Given the description of an element on the screen output the (x, y) to click on. 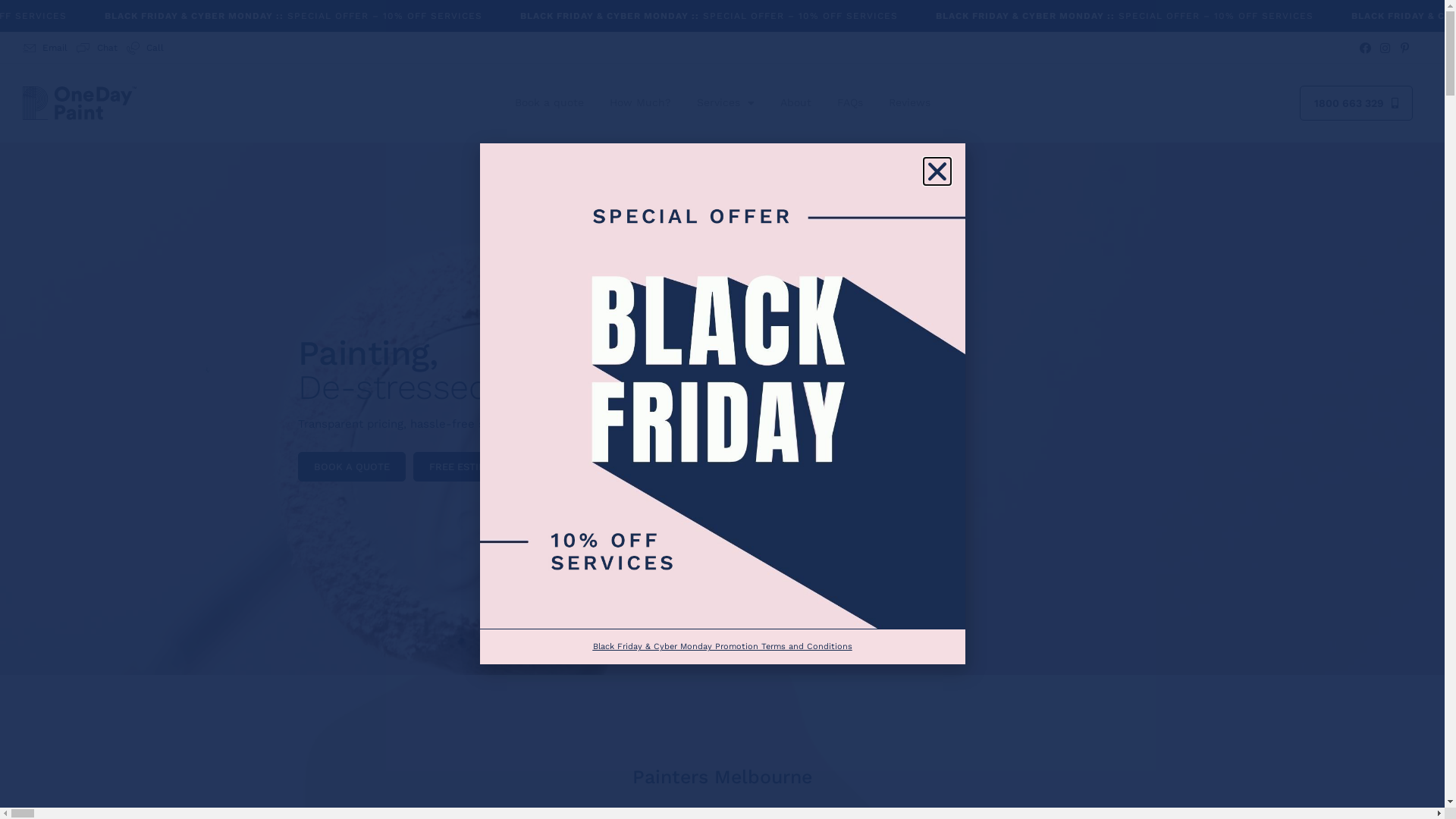
Book a quote Element type: text (549, 102)
Services Element type: text (725, 102)
Chat Element type: text (96, 47)
BOOK A QUOTE Element type: text (350, 466)
Call Element type: text (144, 47)
Reviews Element type: text (908, 102)
How Much? Element type: text (639, 102)
Black Friday & Cyber Monday Promotion Terms and Conditions Element type: text (722, 646)
1800 663 329 Element type: text (1355, 102)
Email Element type: text (44, 47)
About Element type: text (795, 102)
ODP logo Element type: hover (79, 103)
FREE ESTIMATE Element type: text (466, 466)
FAQs Element type: text (849, 102)
